Given the description of an element on the screen output the (x, y) to click on. 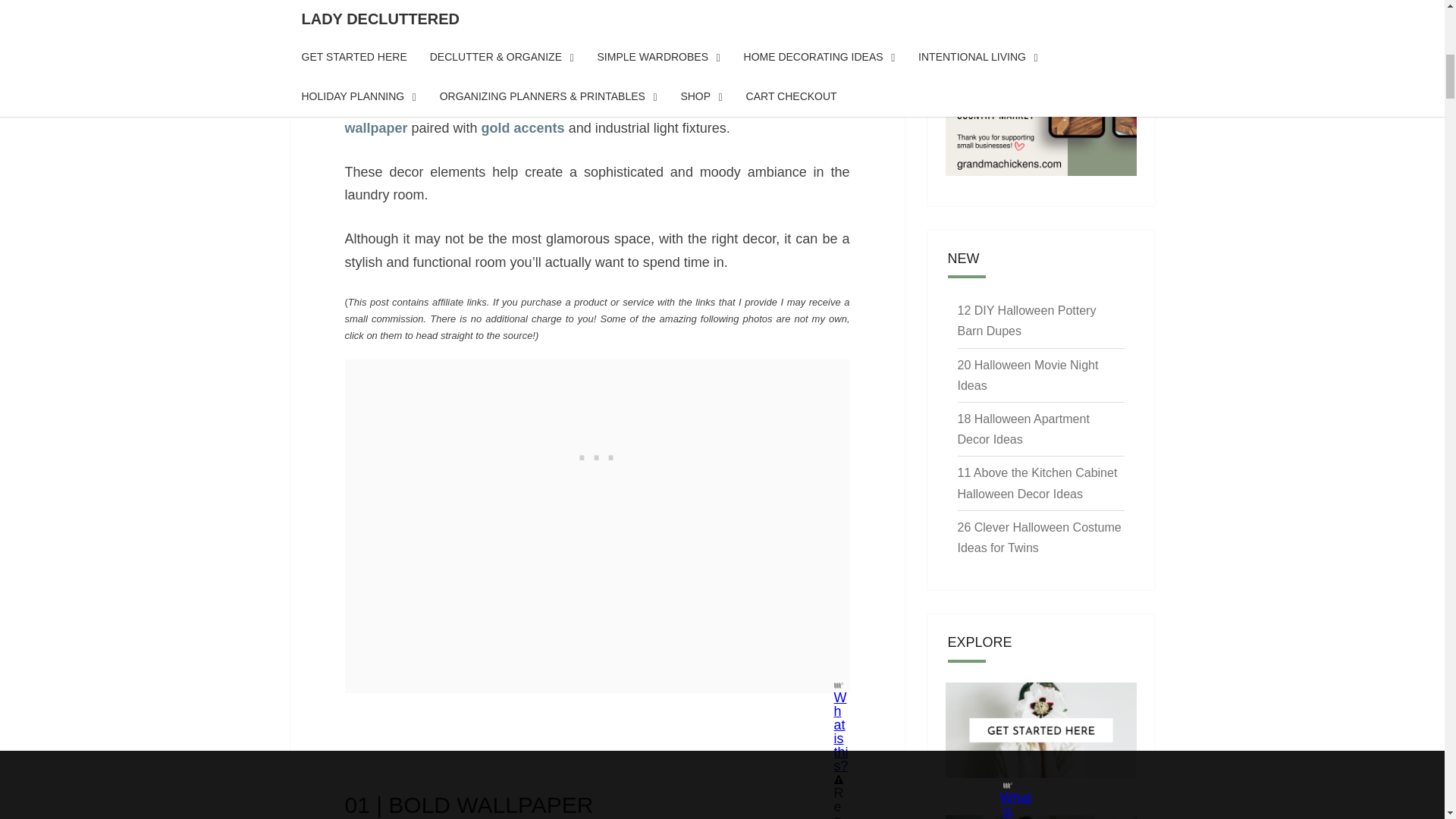
3rd party ad content (597, 453)
Shop-my-Etsy-Shop-2 (1039, 176)
